Given the description of an element on the screen output the (x, y) to click on. 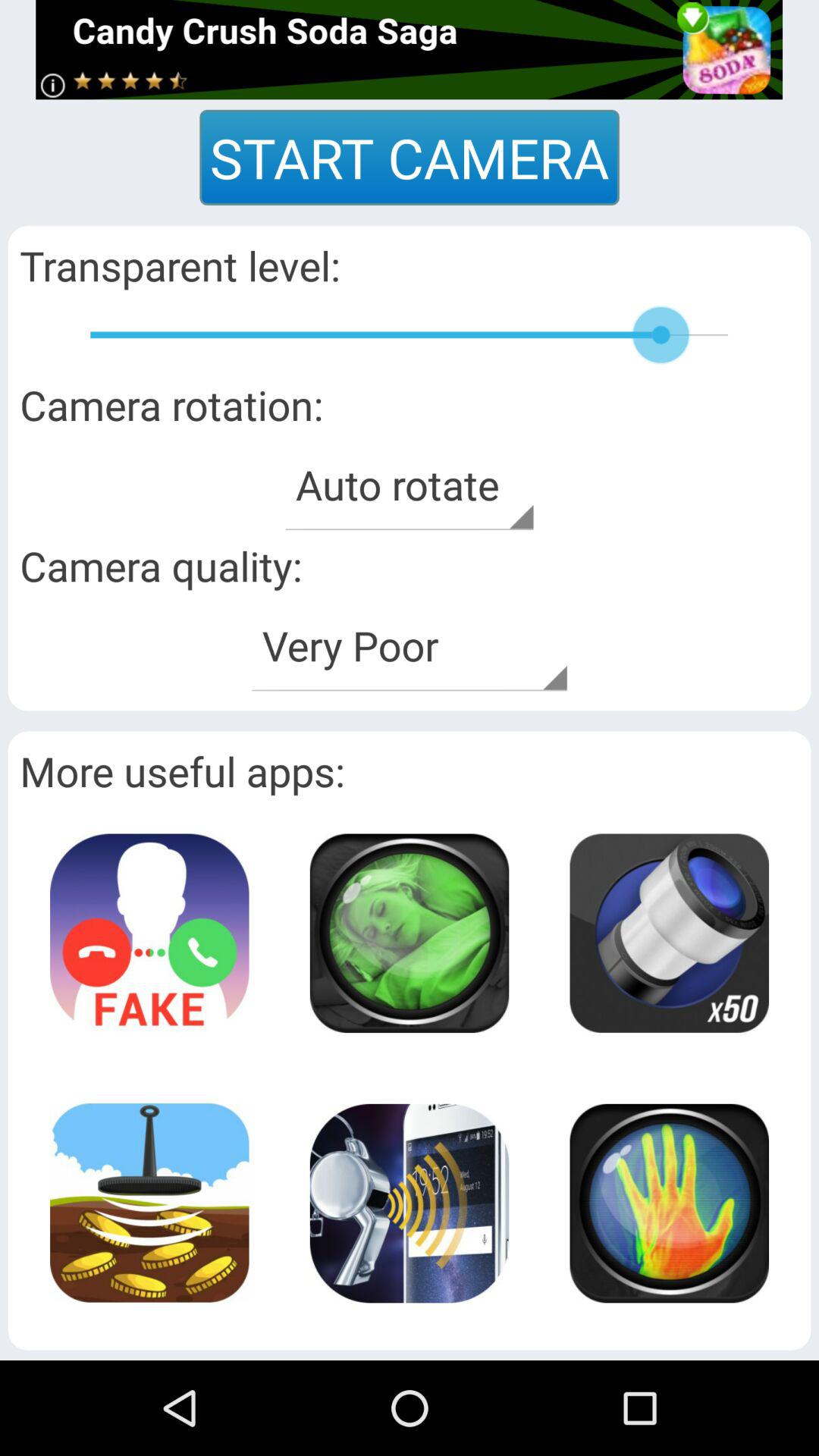
useful app (408, 932)
